Given the description of an element on the screen output the (x, y) to click on. 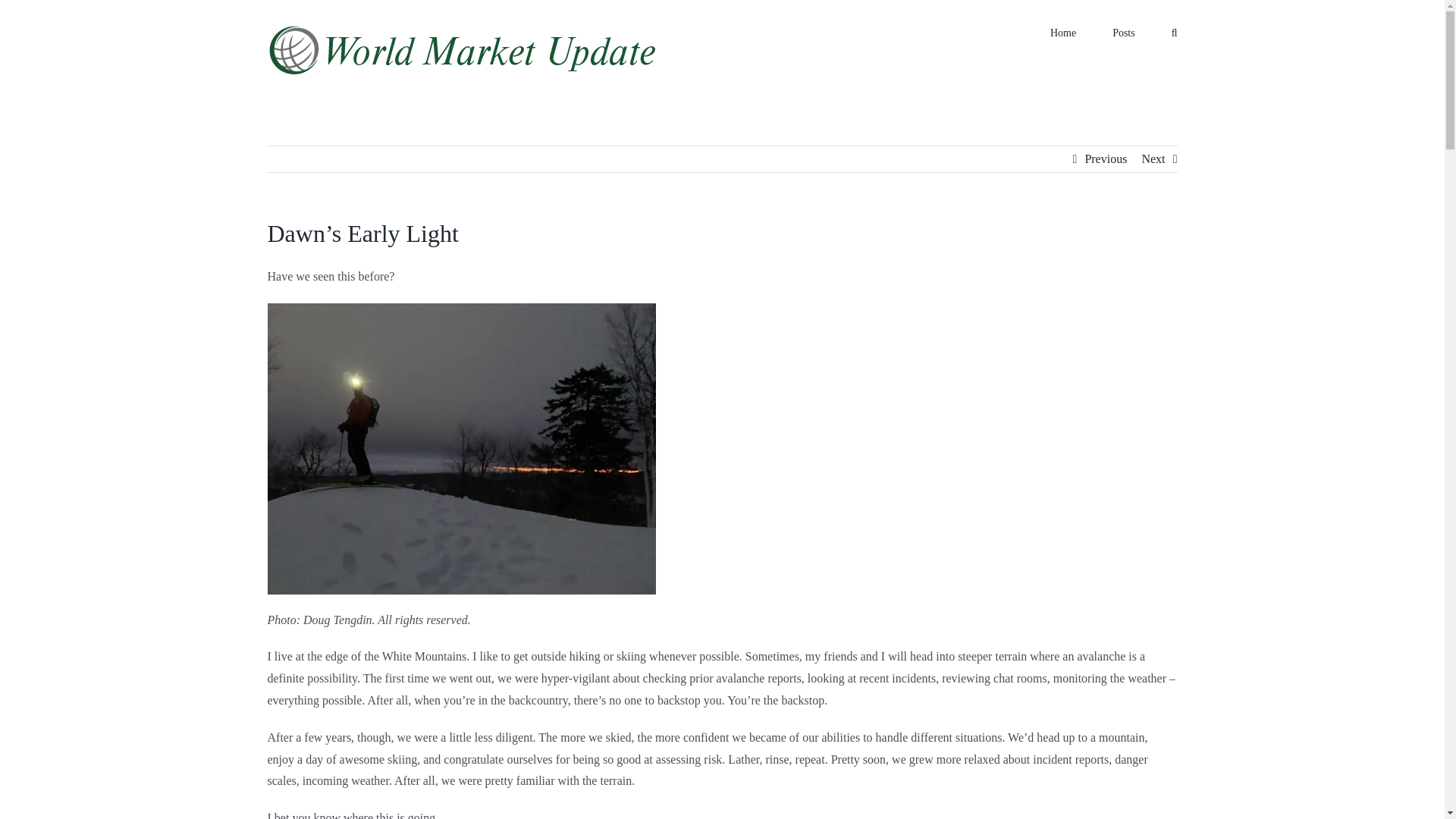
image001-1-jpg (460, 448)
Previous (1105, 158)
Next (1152, 158)
